Given the description of an element on the screen output the (x, y) to click on. 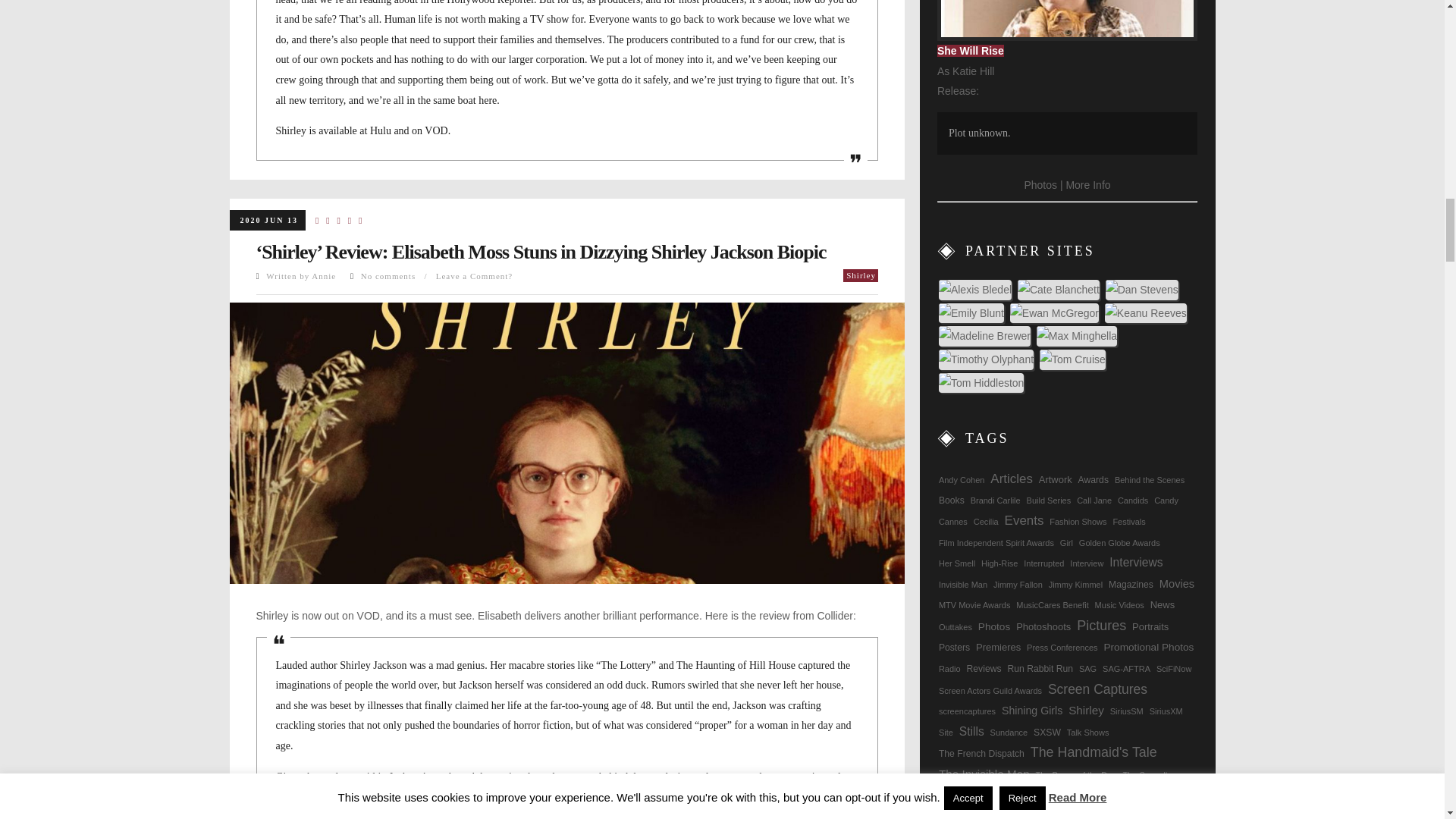
Collider (834, 615)
Shirley (860, 275)
